Given the description of an element on the screen output the (x, y) to click on. 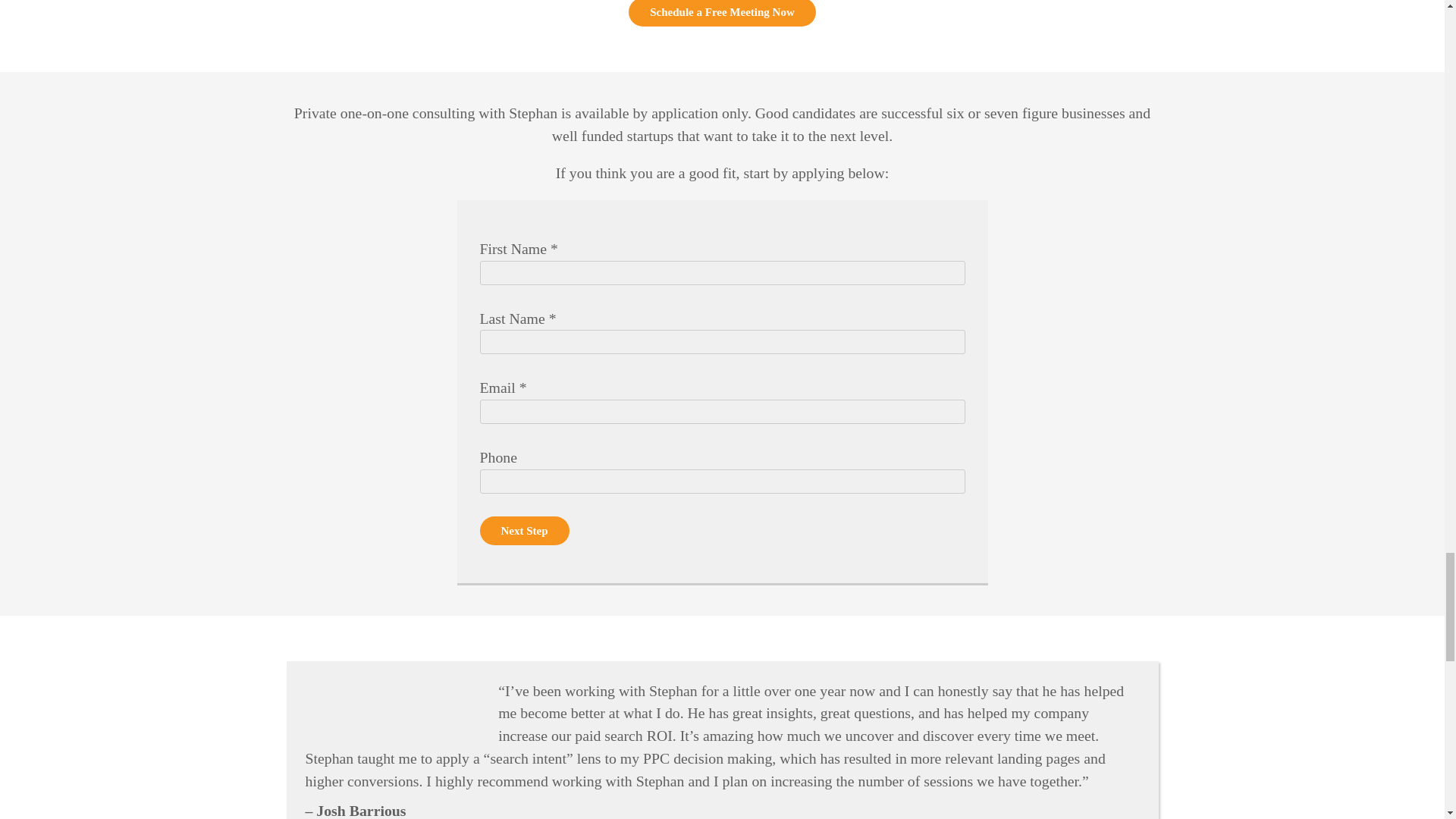
Next Step (524, 530)
Schedule a Free Meeting Now (721, 13)
Next Step (524, 530)
